Given the description of an element on the screen output the (x, y) to click on. 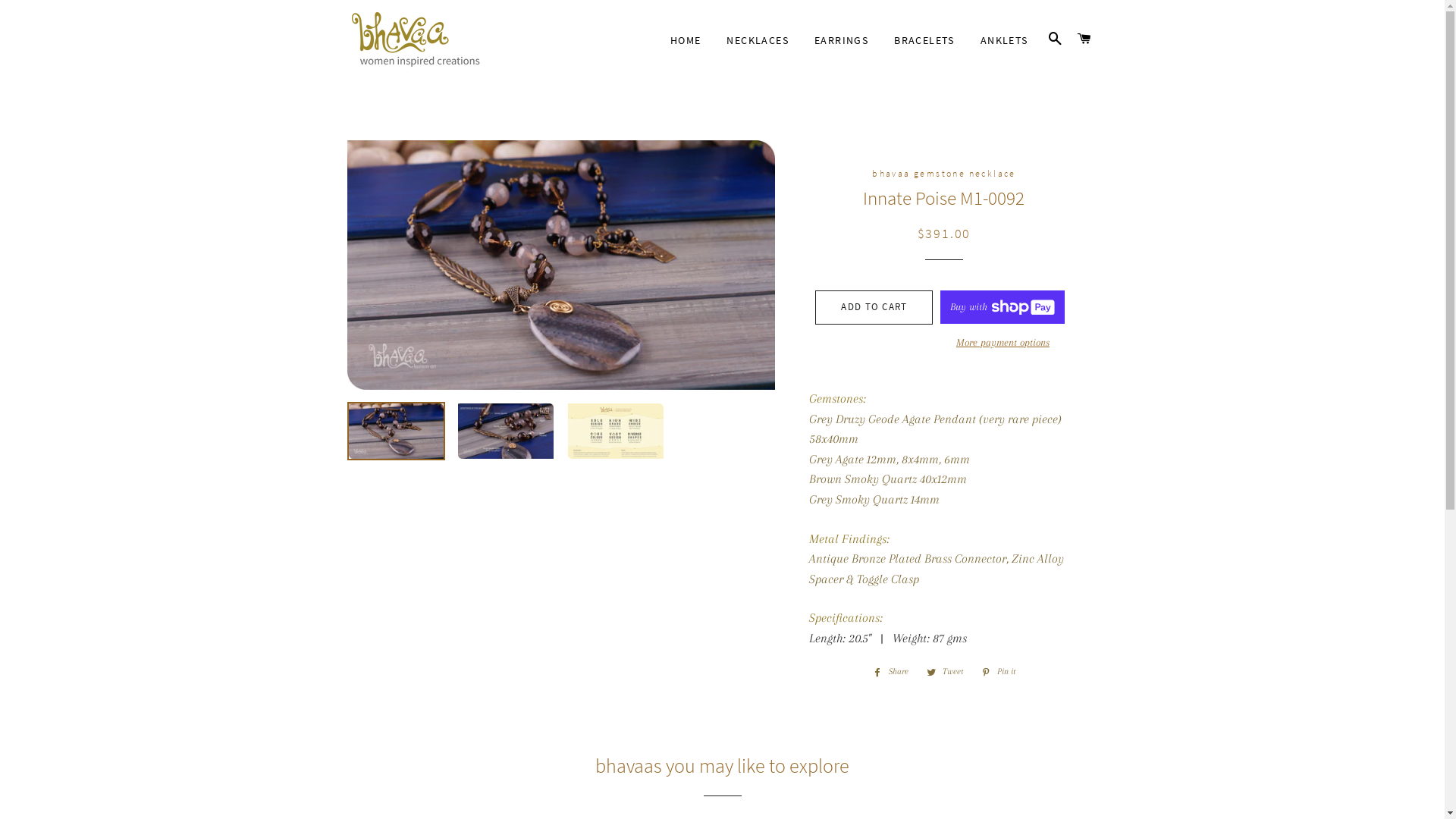
Pin it
Pin on Pinterest Element type: text (997, 671)
HOME Element type: text (685, 40)
NECKLACES Element type: text (757, 40)
ADD TO CART Element type: text (873, 306)
EARRINGS Element type: text (841, 40)
Tweet
Tweet on Twitter Element type: text (944, 671)
Share
Share on Facebook Element type: text (890, 671)
ANKLETS Element type: text (1004, 40)
SEARCH Element type: text (1055, 39)
More payment options Element type: text (1002, 342)
BAG Element type: text (1084, 39)
BRACELETS Element type: text (924, 40)
